Given the description of an element on the screen output the (x, y) to click on. 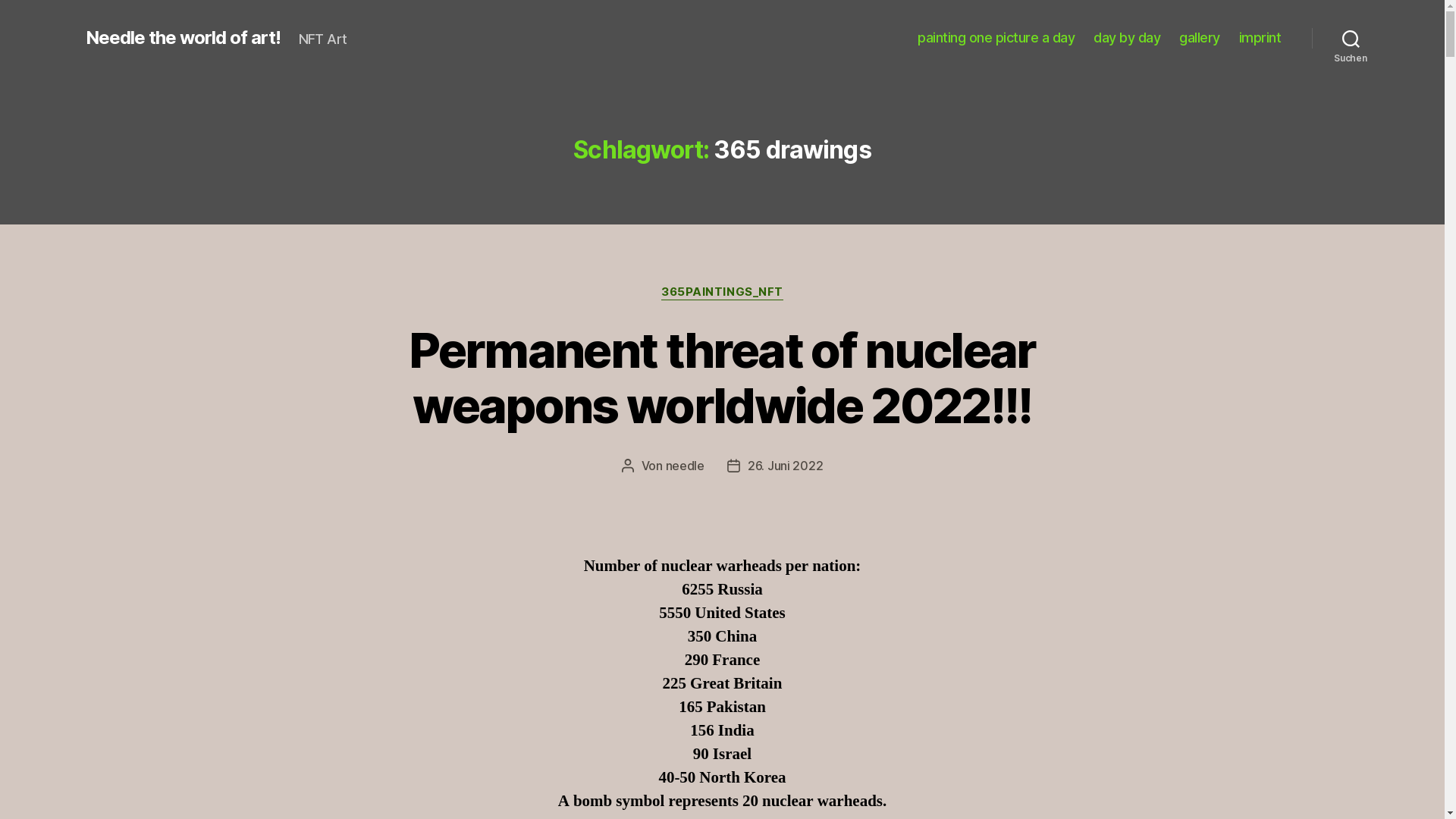
needle Element type: text (684, 465)
365PAINTINGS_NFT Element type: text (722, 292)
Suchen Element type: text (1350, 37)
Needle the world of art! Element type: text (181, 37)
painting one picture a day Element type: text (995, 37)
26. Juni 2022 Element type: text (785, 465)
day by day Element type: text (1126, 37)
imprint Element type: text (1260, 37)
Permanent threat of nuclear weapons worldwide 2022!!! Element type: text (721, 377)
gallery Element type: text (1199, 37)
